Given the description of an element on the screen output the (x, y) to click on. 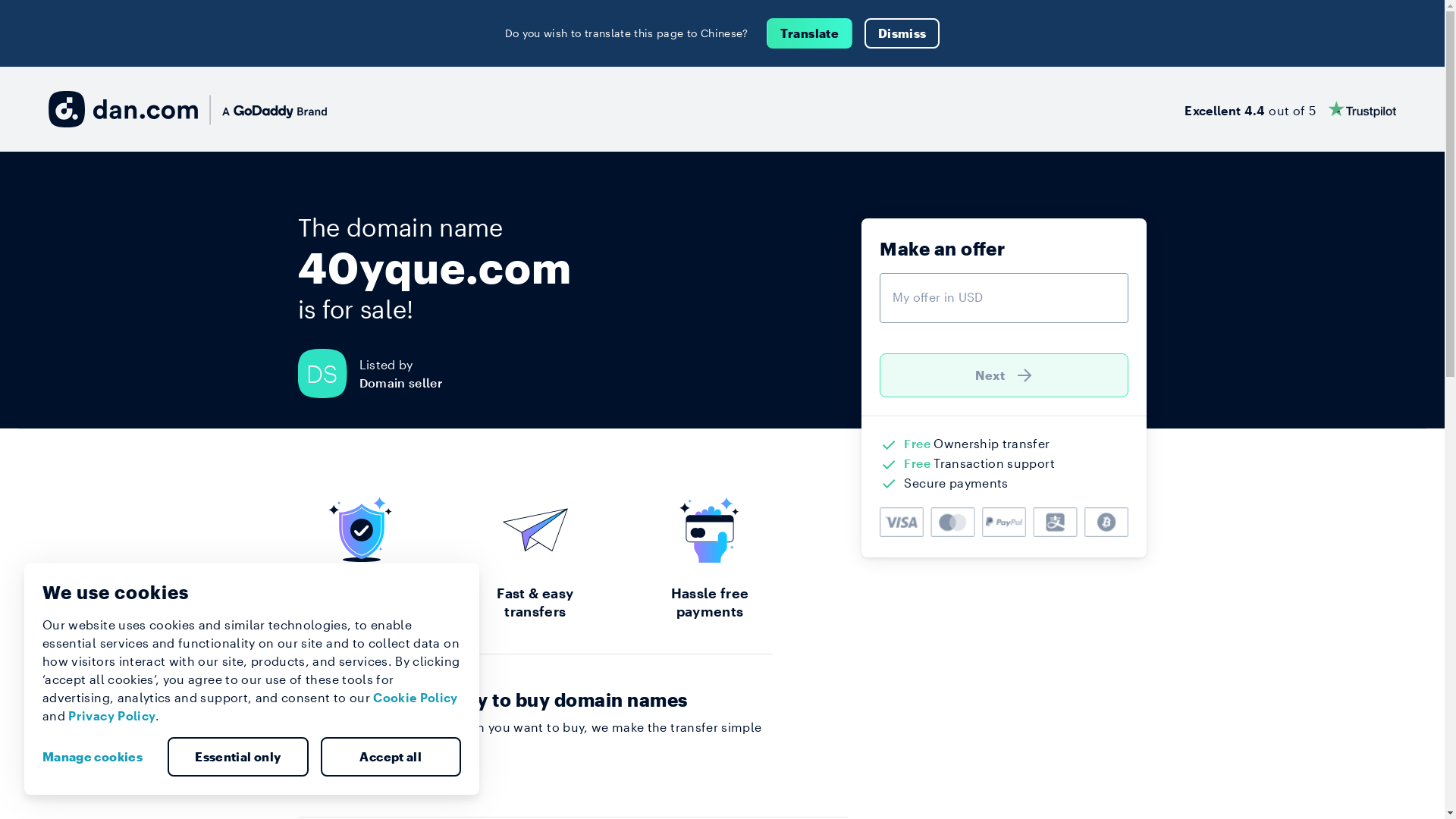
Excellent 4.4 out of 5 Element type: text (1290, 109)
DS Element type: text (327, 373)
Next
) Element type: text (1003, 375)
Translate Element type: text (809, 33)
Essential only Element type: text (237, 756)
Privacy Policy Element type: text (111, 715)
Dismiss Element type: text (901, 33)
Manage cookies Element type: text (98, 756)
Accept all Element type: text (390, 756)
Cookie Policy Element type: text (415, 697)
